Given the description of an element on the screen output the (x, y) to click on. 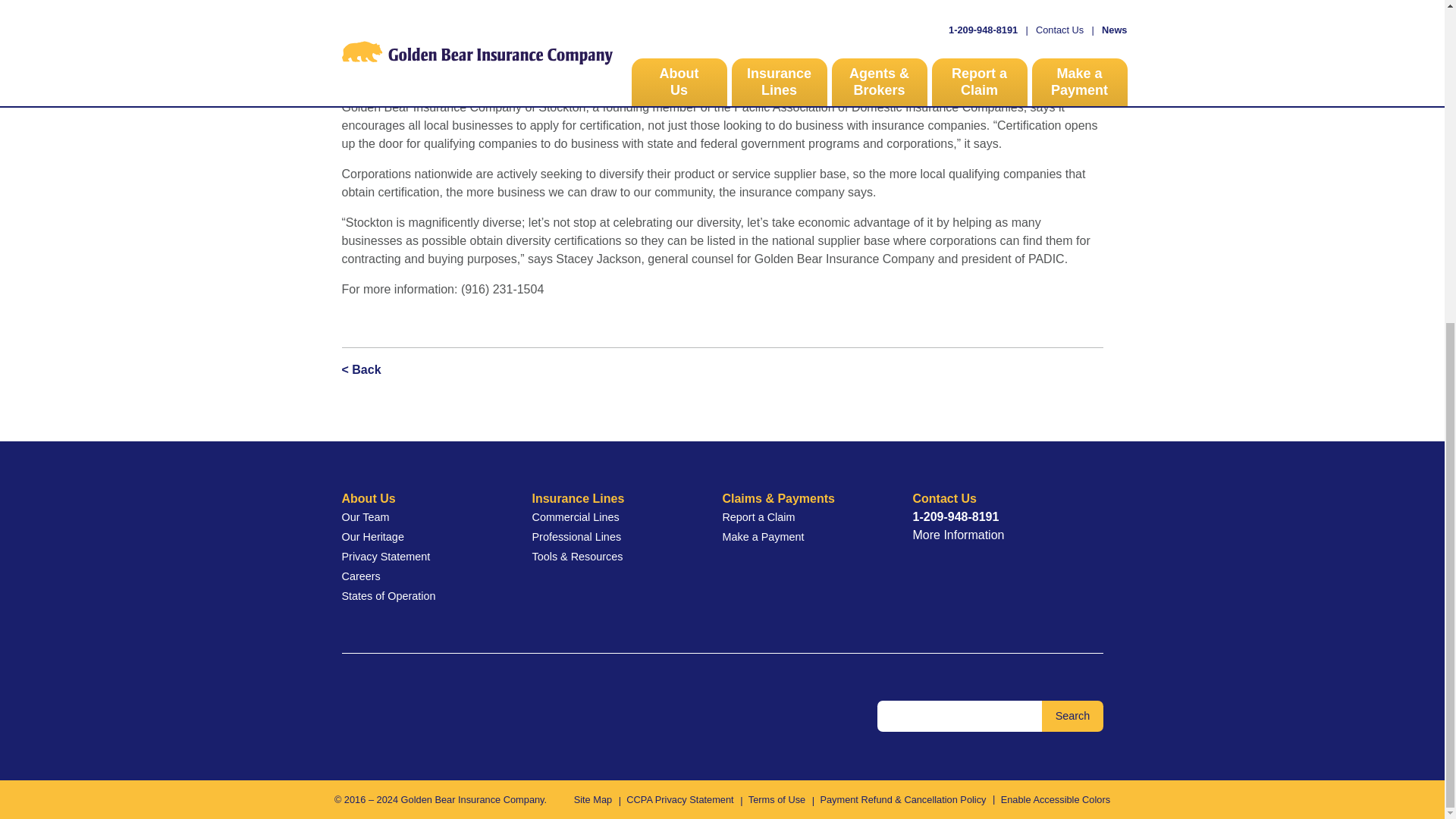
Our Team (421, 517)
About Us (421, 498)
Privacy Statement (421, 557)
Search (1072, 716)
Our Heritage (421, 537)
Commercial Lines (612, 517)
Report a Claim (802, 517)
Search (1072, 716)
Careers (421, 577)
Professional Lines (612, 537)
